Given the description of an element on the screen output the (x, y) to click on. 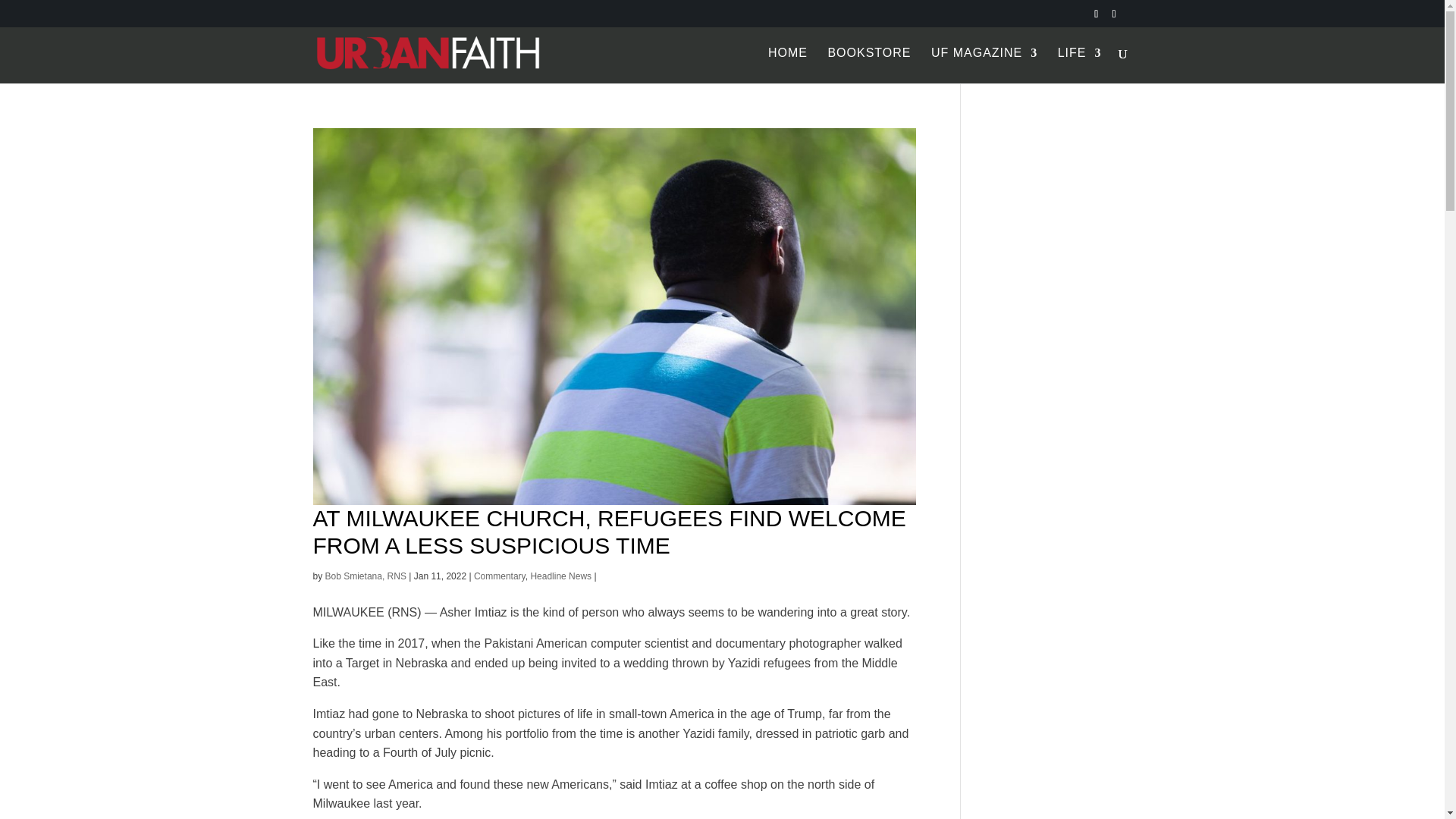
Commentary (499, 575)
Headline News (560, 575)
UF MAGAZINE (983, 65)
HOME (788, 65)
Posts by Bob Smietana, RNS (365, 575)
LIFE (1080, 65)
BOOKSTORE (869, 65)
Bob Smietana, RNS (365, 575)
